Given the description of an element on the screen output the (x, y) to click on. 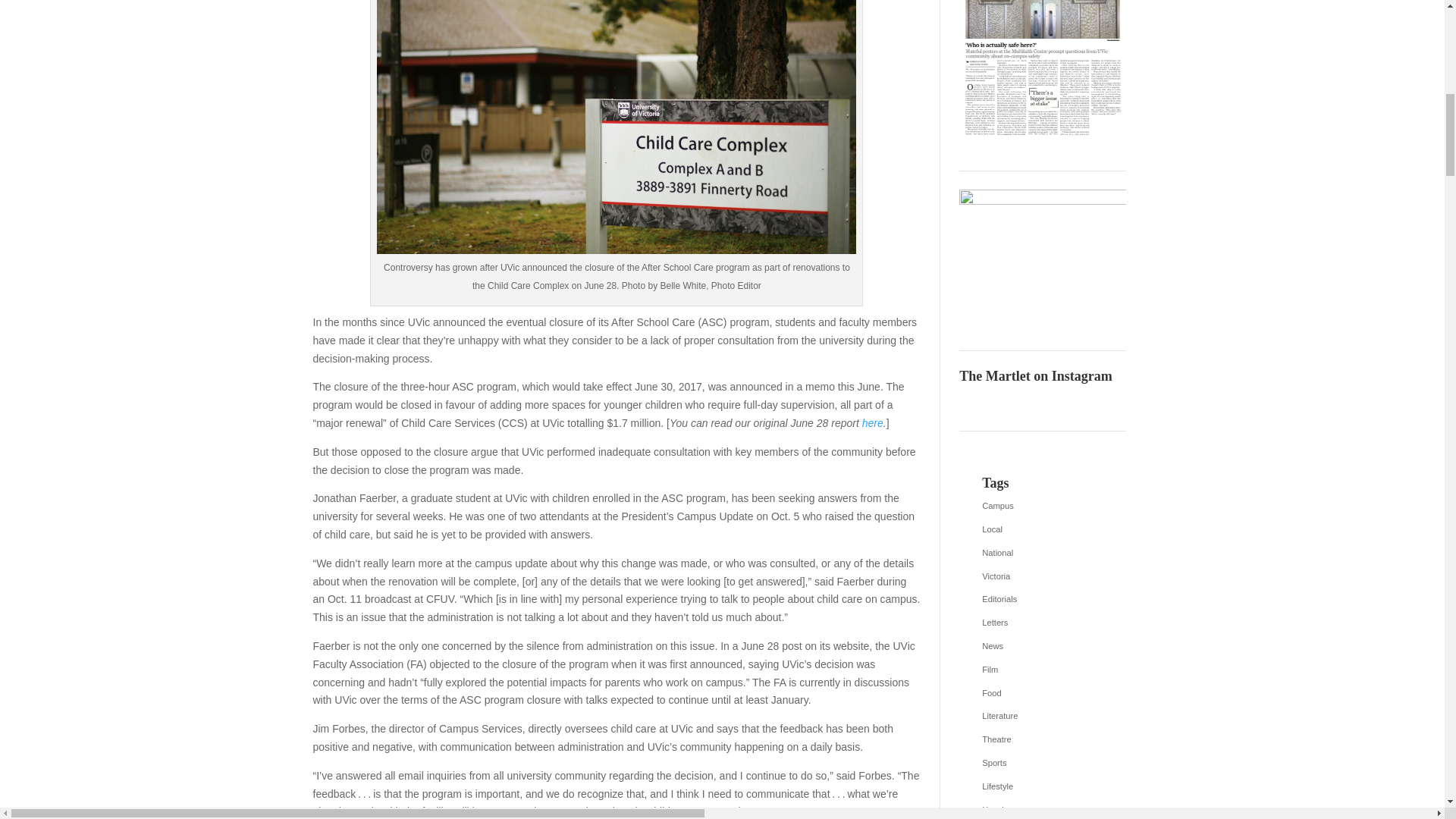
Housing (1042, 810)
Our Digital Print Issue (1042, 71)
National (1042, 553)
News (1042, 647)
Literature (1042, 716)
Victoria (1042, 577)
Sports (1042, 763)
Theatre (1042, 740)
Film (1042, 669)
Editorials (1042, 599)
Letters (1042, 623)
Food (1042, 693)
Lifestyle (1042, 787)
here (872, 422)
Campus (1042, 506)
